Given the description of an element on the screen output the (x, y) to click on. 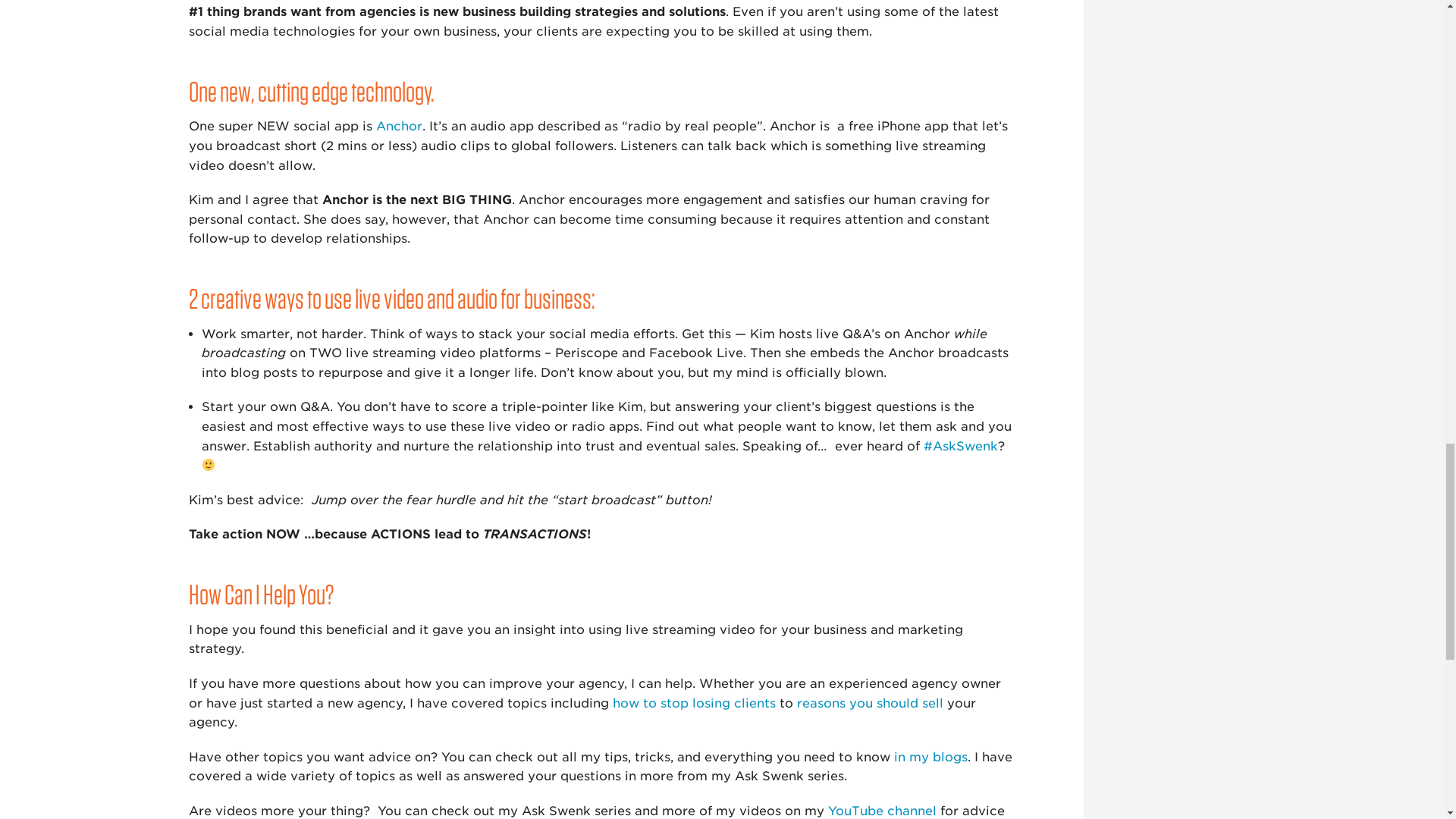
how to stop losing clients (694, 703)
YouTube channel (882, 810)
reasons you should sell (869, 703)
Anchor (398, 125)
in my blogs (930, 757)
